Given the description of an element on the screen output the (x, y) to click on. 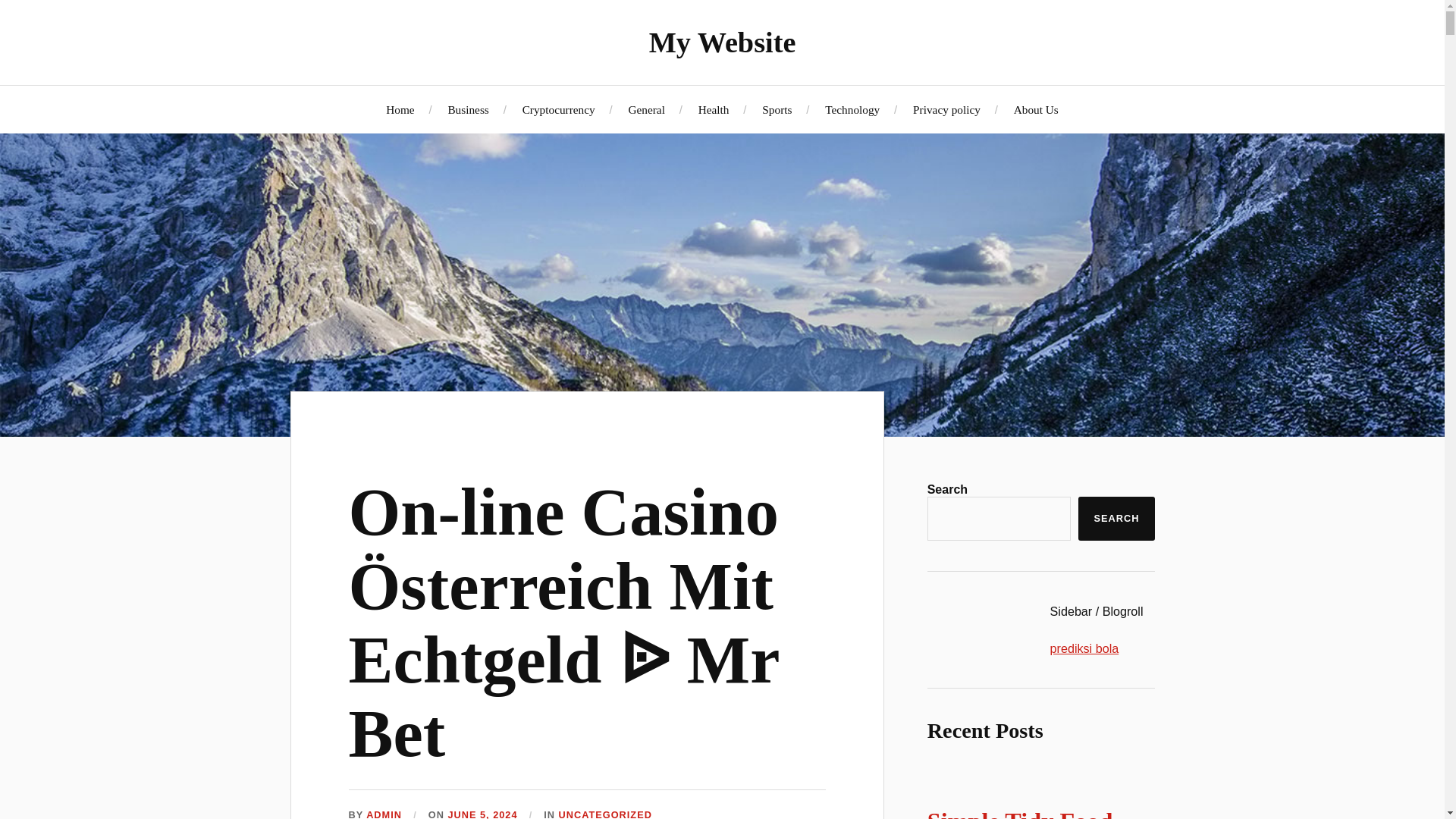
UNCATEGORIZED (605, 814)
About Us (1035, 109)
My Website (722, 42)
ADMIN (383, 814)
Privacy policy (945, 109)
Technology (852, 109)
JUNE 5, 2024 (481, 814)
Cryptocurrency (558, 109)
Posts by admin (383, 814)
